Given the description of an element on the screen output the (x, y) to click on. 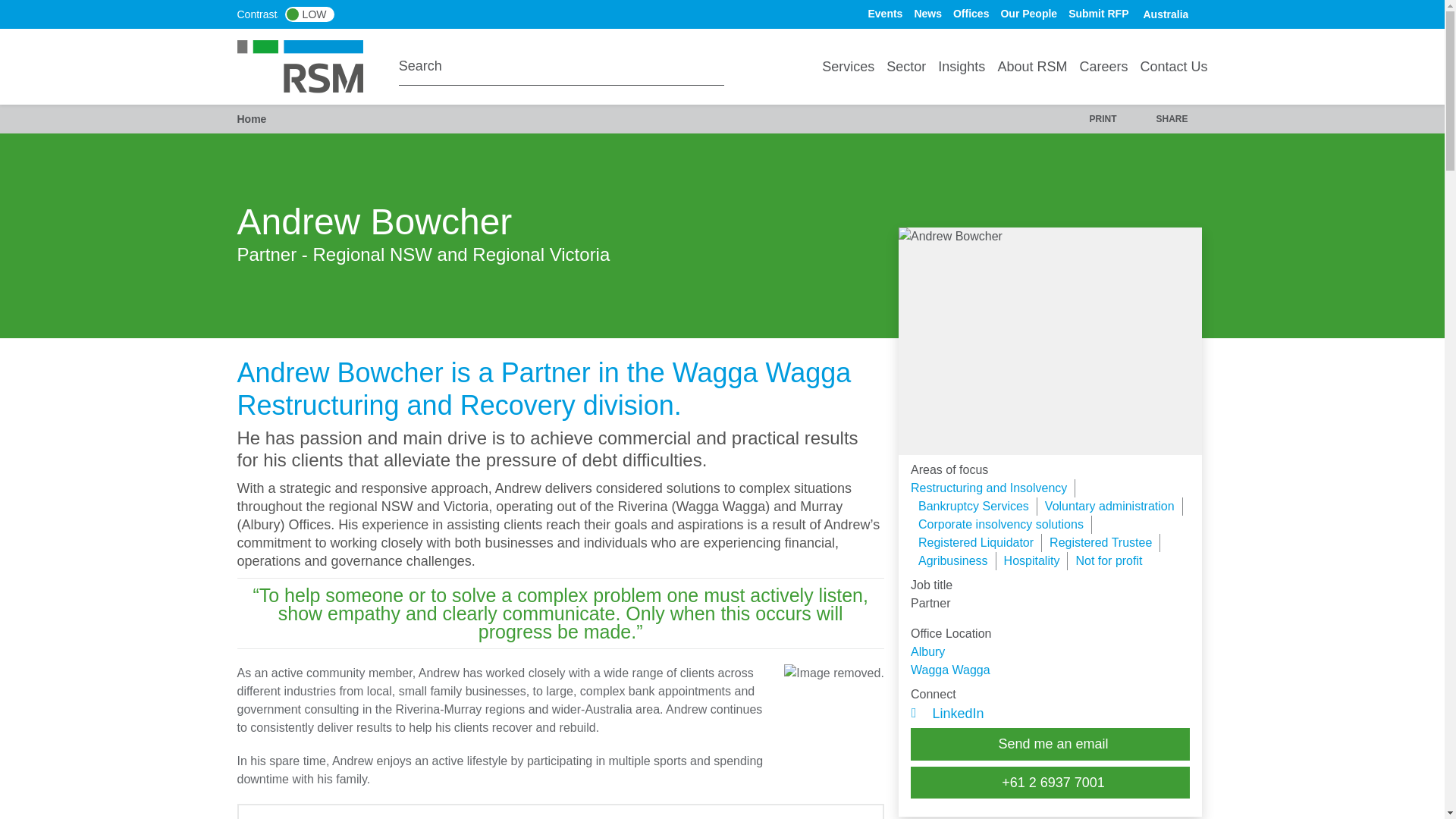
Offices (970, 13)
Our People (1028, 13)
Andrew Bowcher (1050, 341)
News (928, 13)
Submit RFP (1098, 13)
Services (847, 66)
home (308, 65)
Events (884, 13)
